Given the description of an element on the screen output the (x, y) to click on. 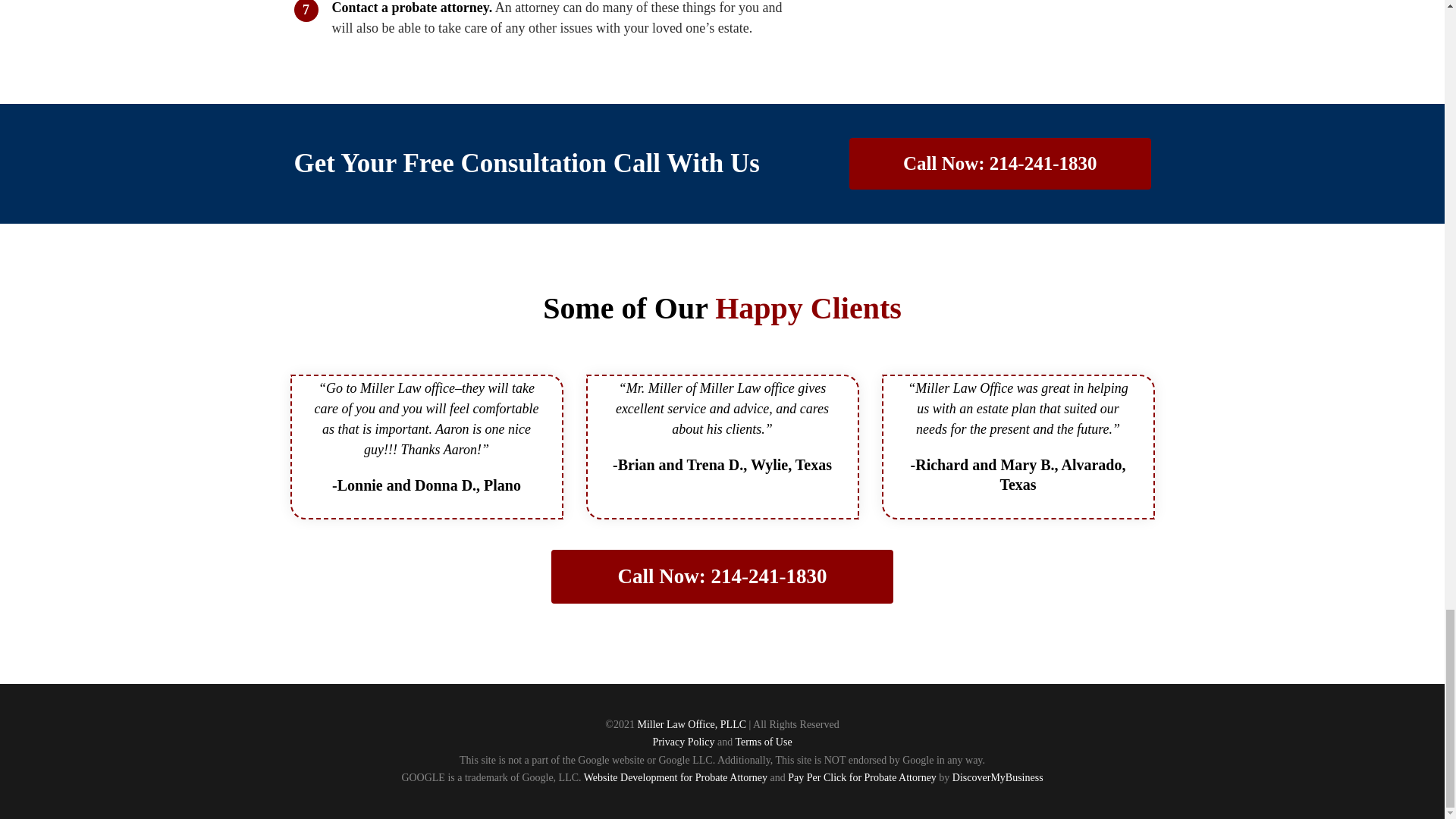
Privacy Policy (683, 741)
Call Now: 214-241-1830 (722, 576)
Website Development for Probate Attorney (675, 777)
DiscoverMyBusiness (997, 777)
Terms of Use (763, 741)
Call Now: 214-241-1830 (999, 163)
Miller Law Office, PLLC (691, 724)
Pay Per Click for Probate Attorney (861, 777)
